Given the description of an element on the screen output the (x, y) to click on. 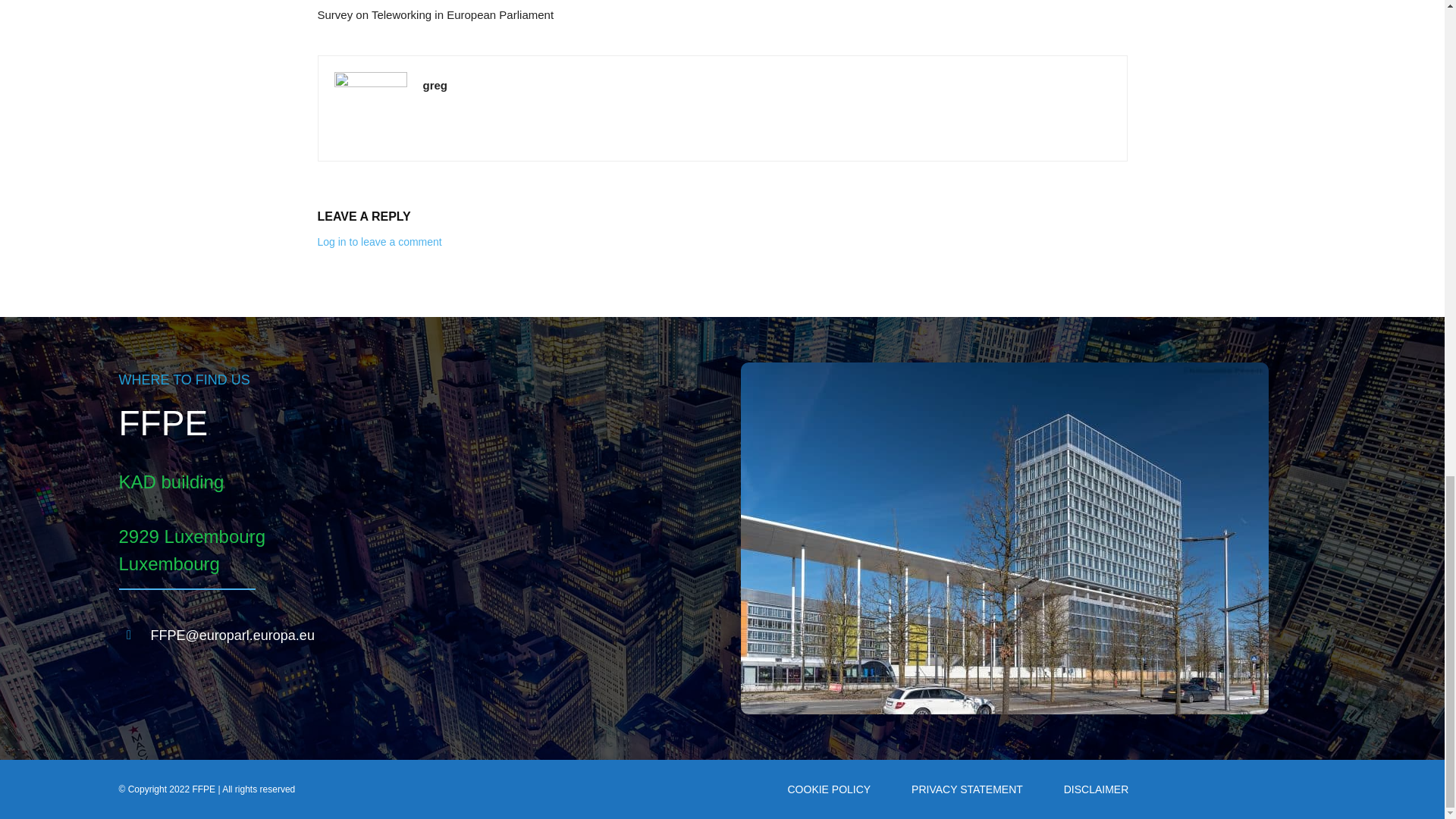
greg (435, 84)
Survey on Teleworking in European Parliament (435, 14)
